Given the description of an element on the screen output the (x, y) to click on. 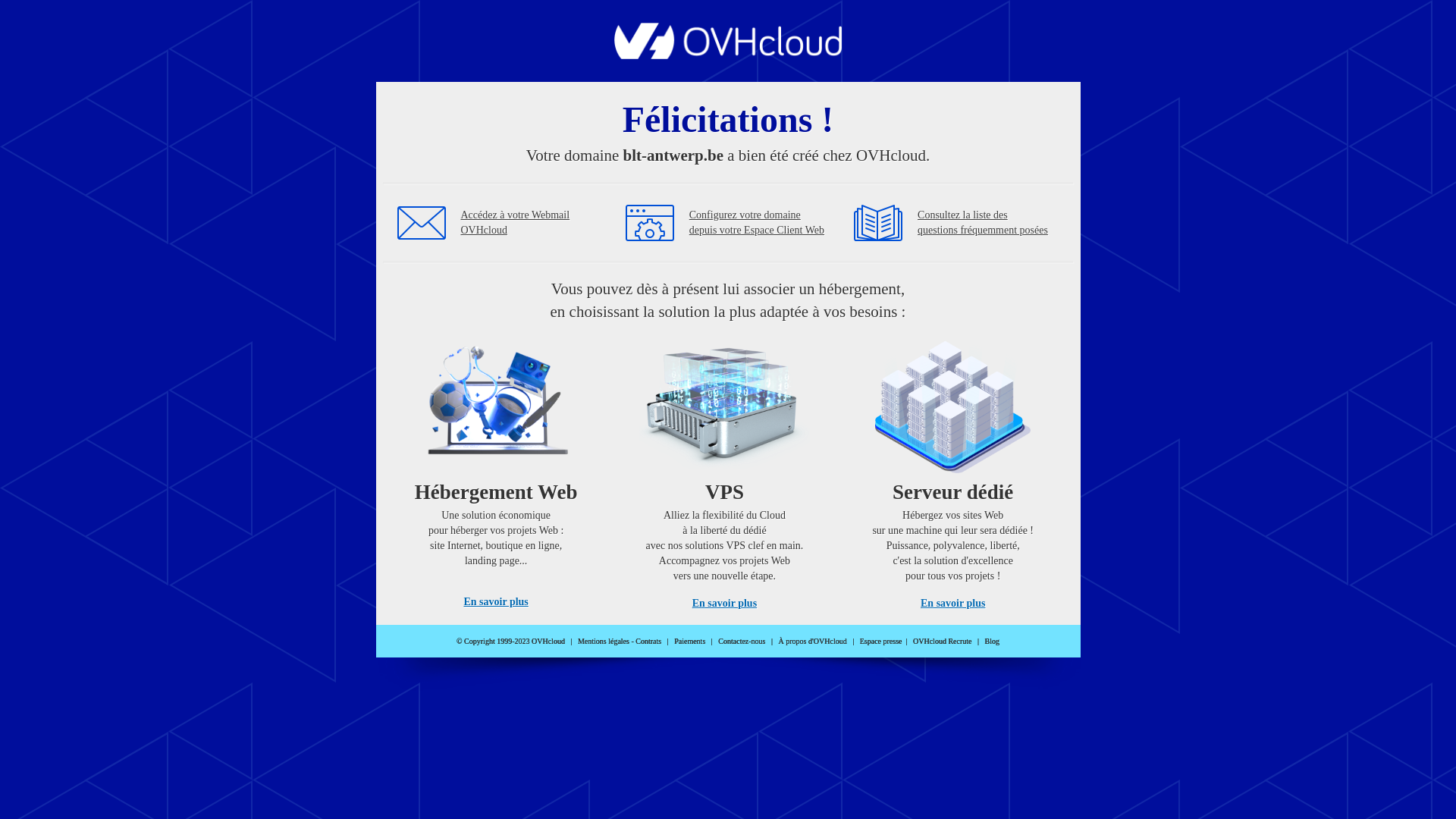
En savoir plus Element type: text (724, 602)
Paiements Element type: text (689, 641)
Configurez votre domaine
depuis votre Espace Client Web Element type: text (756, 222)
Espace presse Element type: text (880, 641)
OVHcloud Recrute Element type: text (942, 641)
En savoir plus Element type: text (952, 602)
OVHcloud Element type: hover (727, 54)
VPS Element type: hover (724, 469)
En savoir plus Element type: text (495, 601)
Contactez-nous Element type: text (741, 641)
Blog Element type: text (992, 641)
